Given the description of an element on the screen output the (x, y) to click on. 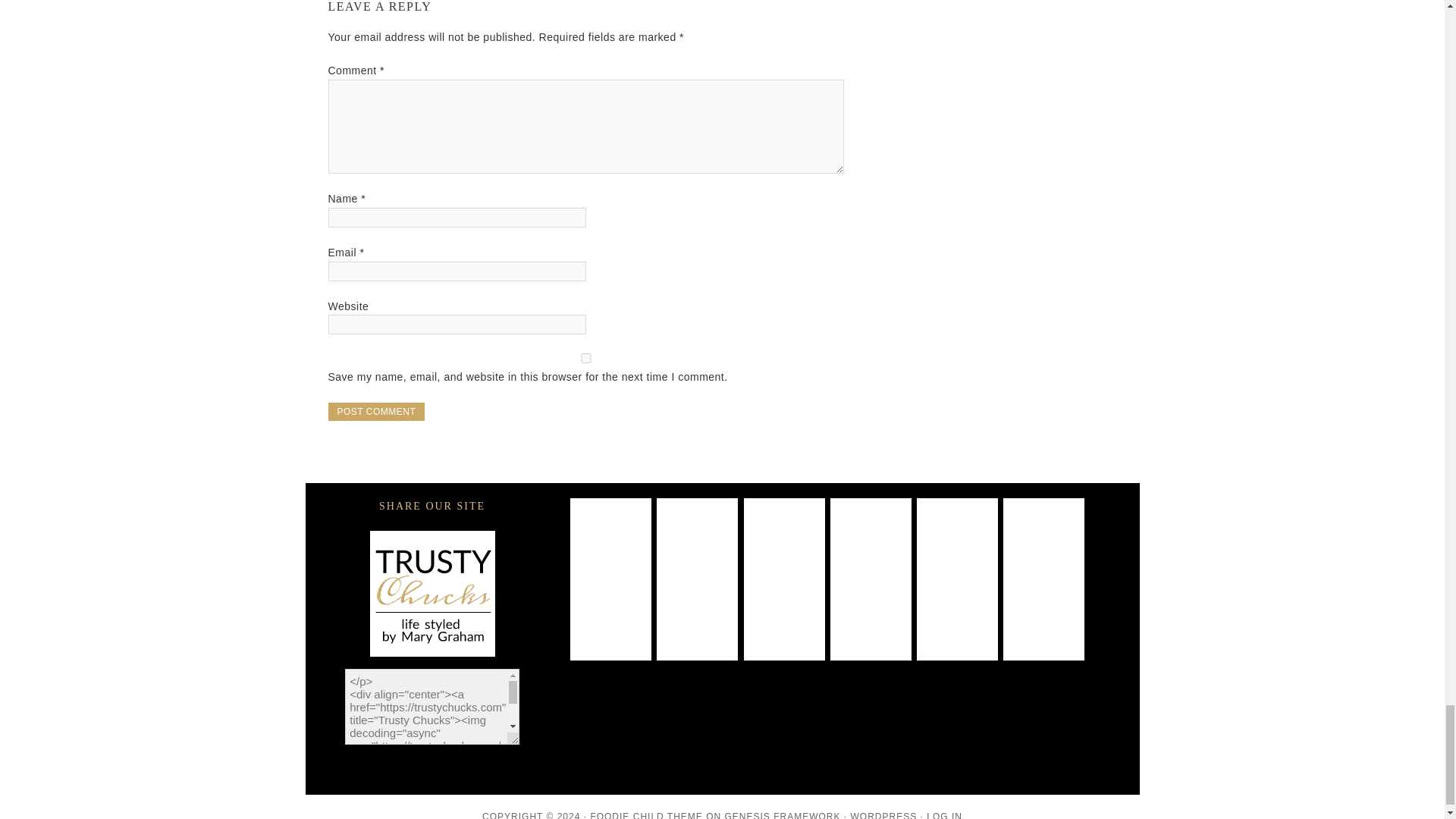
2022 Travel Highlights (697, 619)
yes (585, 357)
Post Comment (376, 411)
paint colors, for now (610, 538)
2024 Book Club List (870, 538)
humble, quiet, and meek (1043, 538)
Trusty Chucks (431, 593)
Writing about the dead (697, 538)
Favorite Books of 2022 (784, 619)
Post Comment (376, 411)
